Given the description of an element on the screen output the (x, y) to click on. 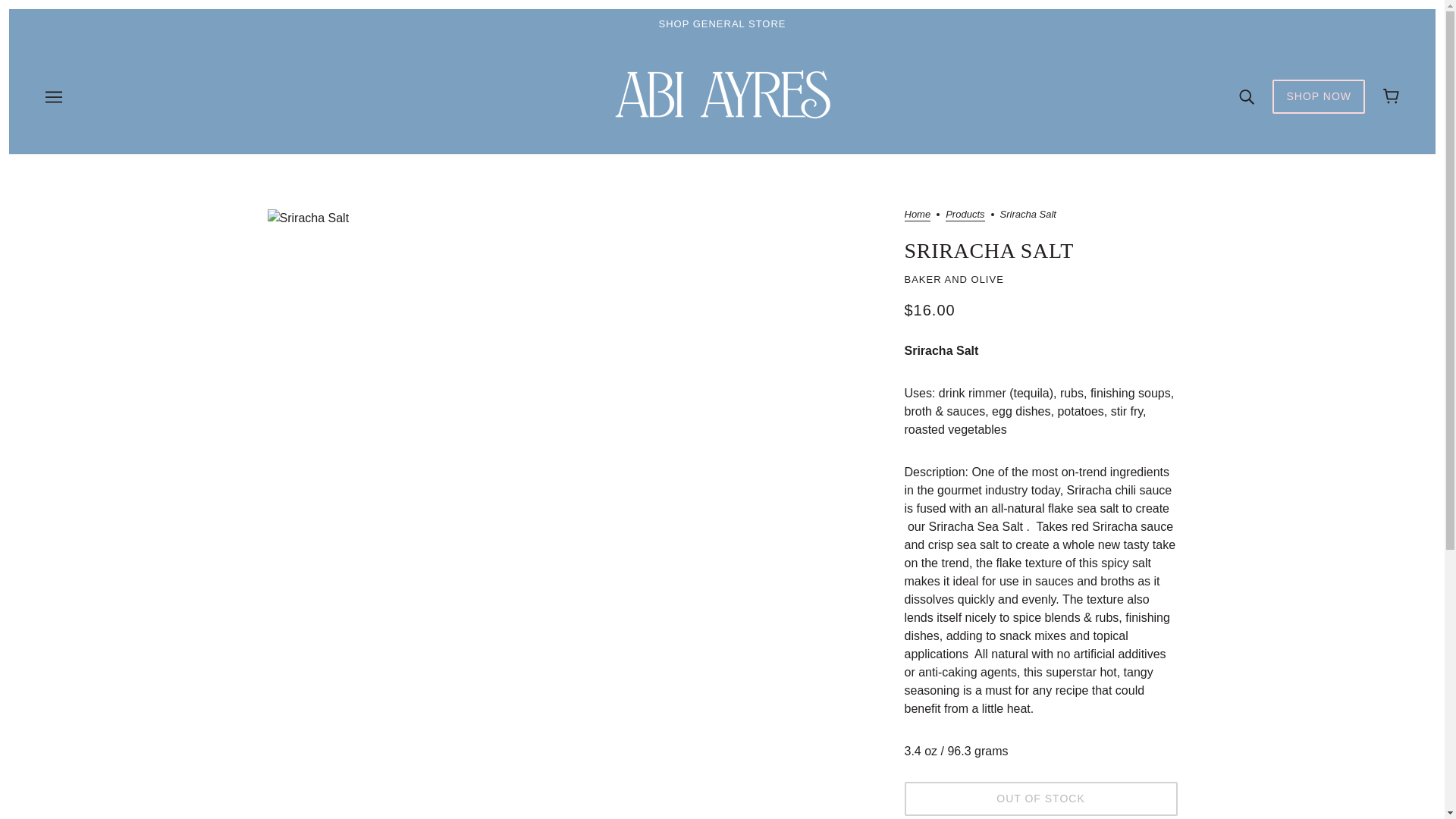
Abi Ayres (722, 119)
SHOP GENERAL STORE (721, 24)
